Given the description of an element on the screen output the (x, y) to click on. 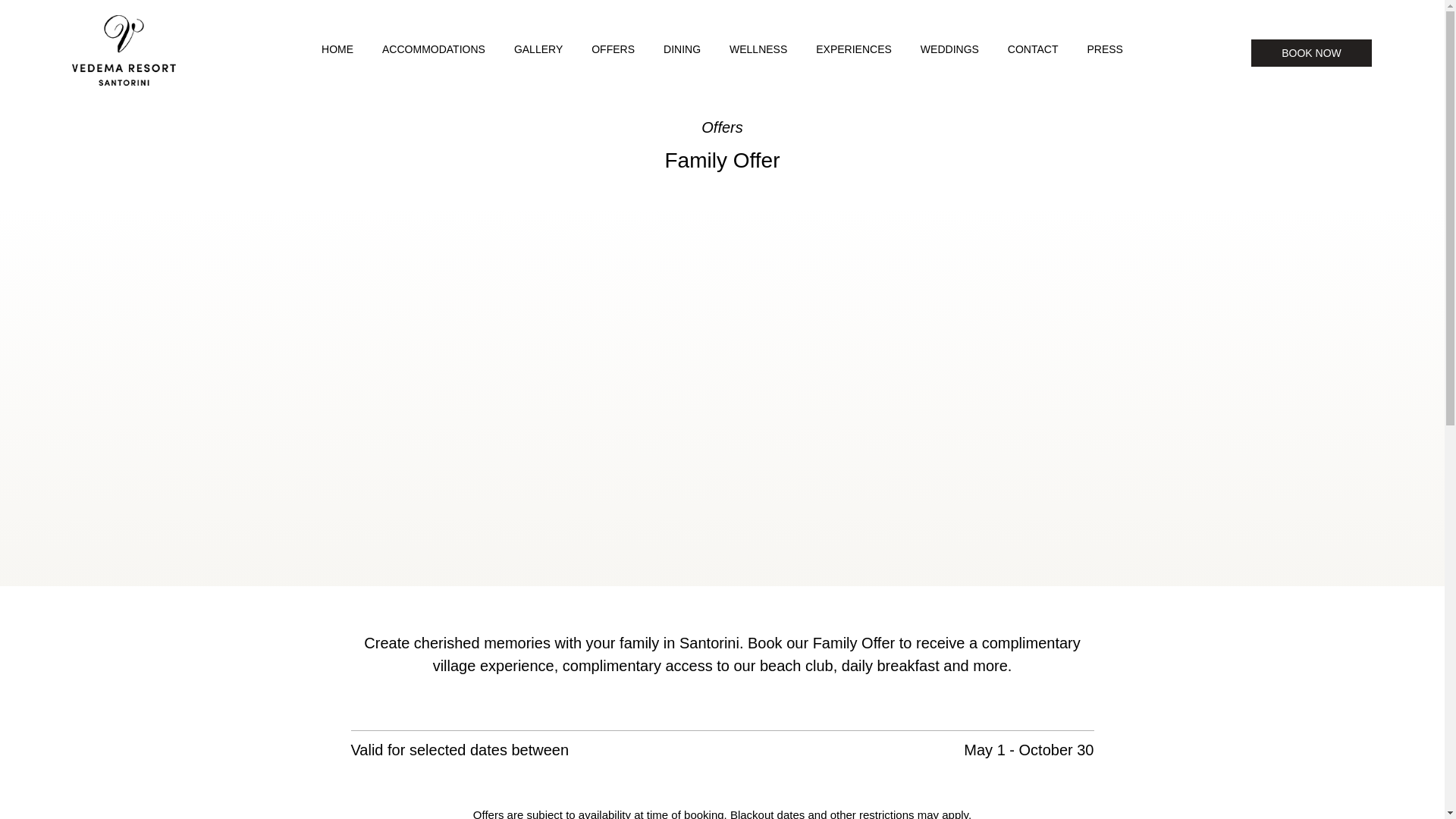
WELLNESS (758, 48)
WEDDINGS (948, 48)
GALLERY (537, 48)
ACCOMMODATIONS (433, 48)
DINING (681, 48)
PRESS (1104, 48)
CONTACT (1032, 48)
EXPERIENCES (853, 48)
BOOK NOW (1311, 52)
HOME (337, 48)
